Given the description of an element on the screen output the (x, y) to click on. 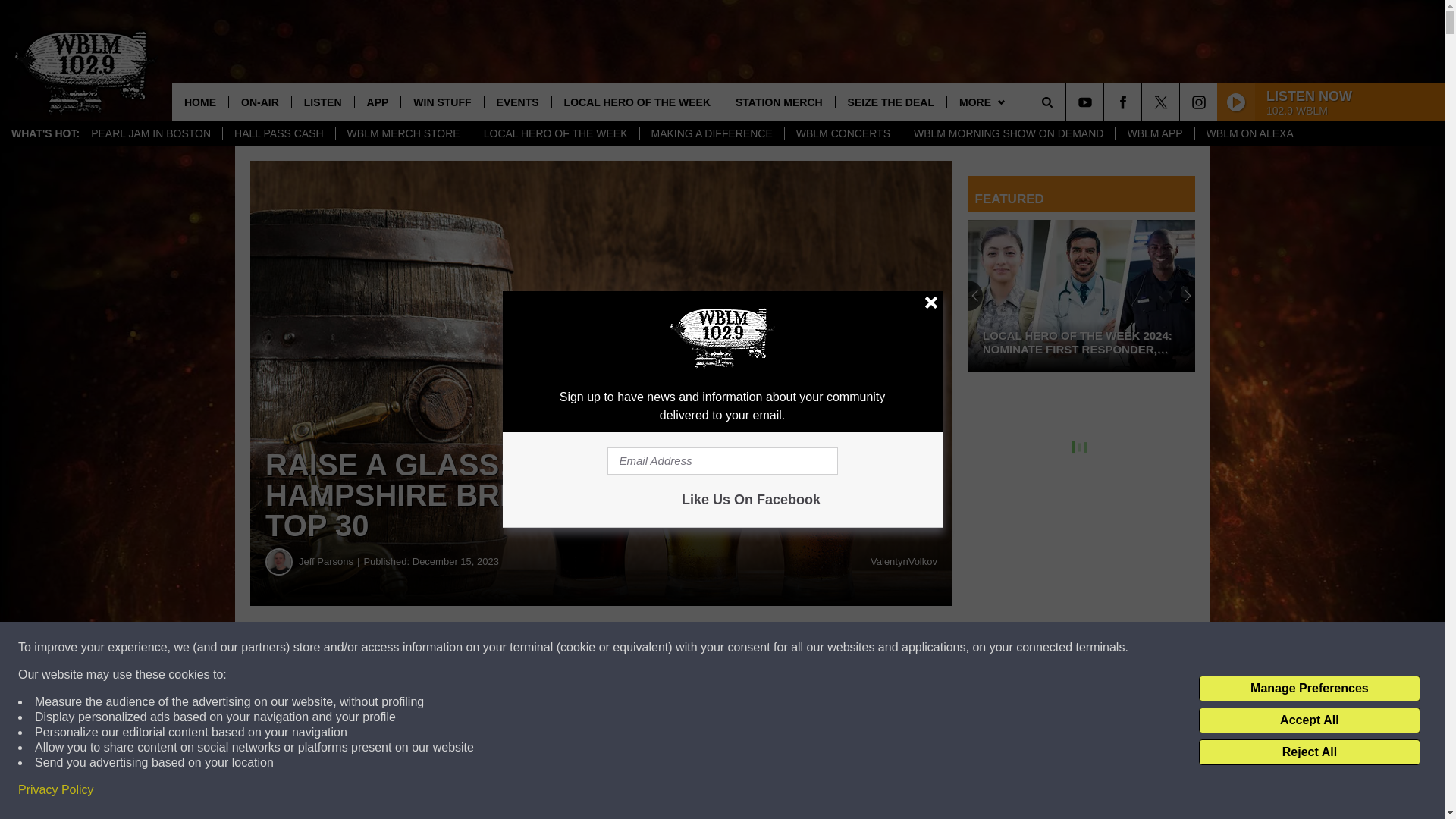
ON-AIR (259, 102)
WBLM MORNING SHOW ON DEMAND (1008, 133)
Share on Twitter (741, 647)
PEARL JAM IN BOSTON (151, 133)
Reject All (1309, 751)
WBLM ON ALEXA (1248, 133)
Accept All (1309, 720)
WBLM APP (1154, 133)
Share on Facebook (460, 647)
Privacy Policy (55, 789)
LOCAL HERO OF THE WEEK (555, 133)
SEARCH (1068, 102)
HALL PASS CASH (278, 133)
HOME (199, 102)
Manage Preferences (1309, 688)
